Given the description of an element on the screen output the (x, y) to click on. 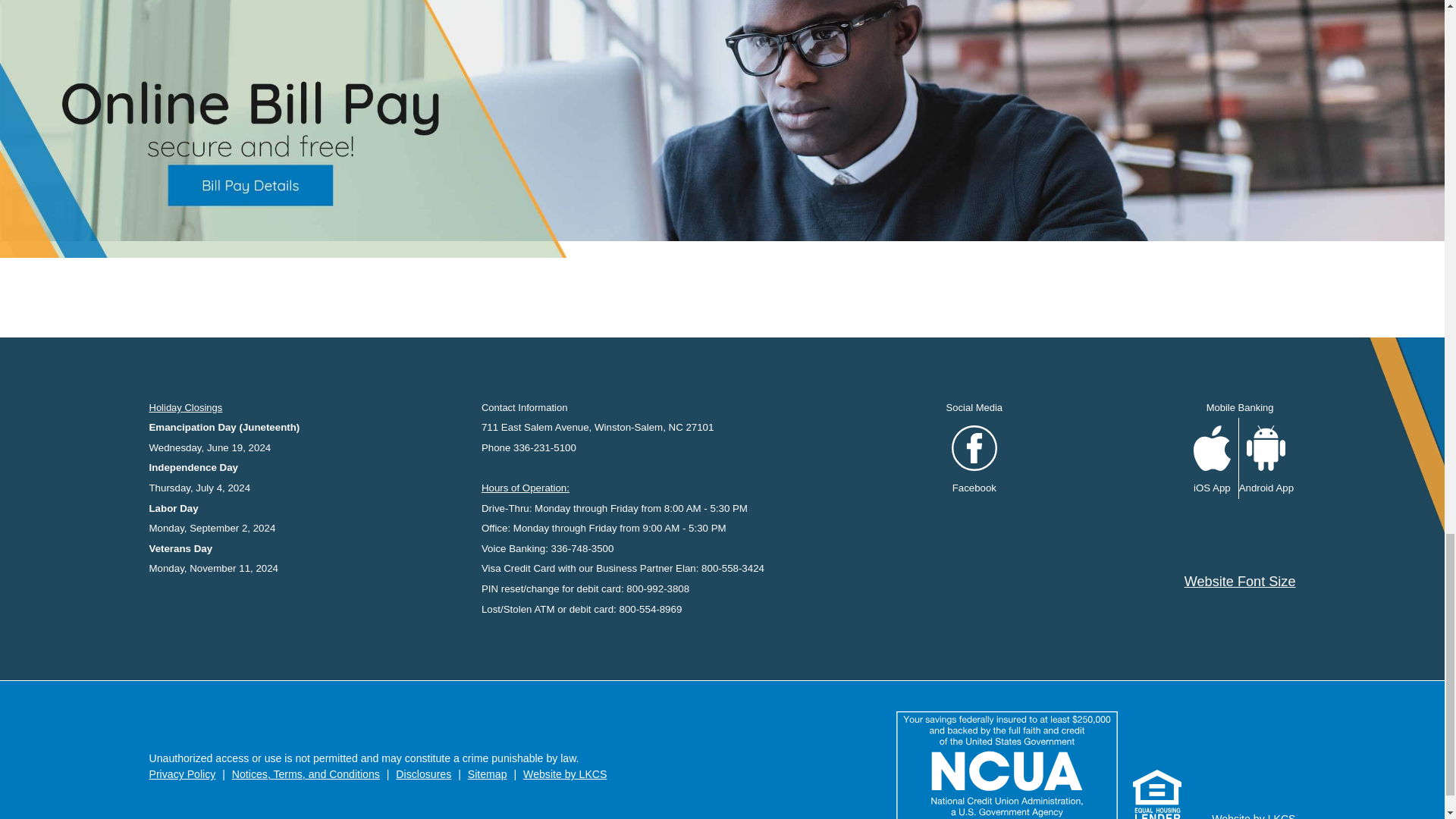
National Credit Union Association (1007, 765)
facebook (974, 447)
Equal Housing Lender (1156, 794)
